Given the description of an element on the screen output the (x, y) to click on. 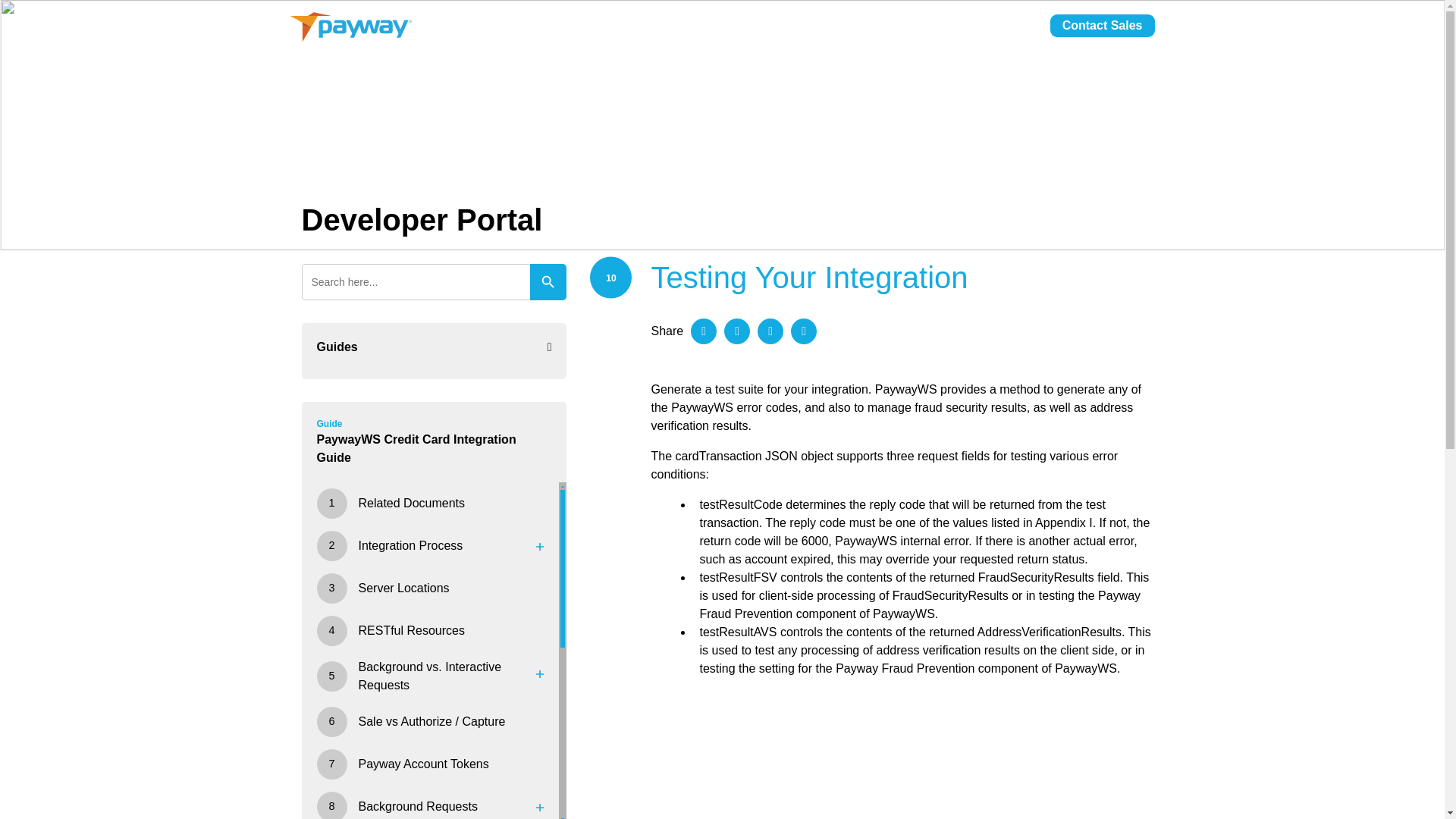
Developers (925, 33)
Contact Sales (1101, 25)
Pricing (792, 33)
About (852, 33)
Contact Sales (1101, 25)
Get Help (1005, 33)
Payment Processing (688, 33)
